Given the description of an element on the screen output the (x, y) to click on. 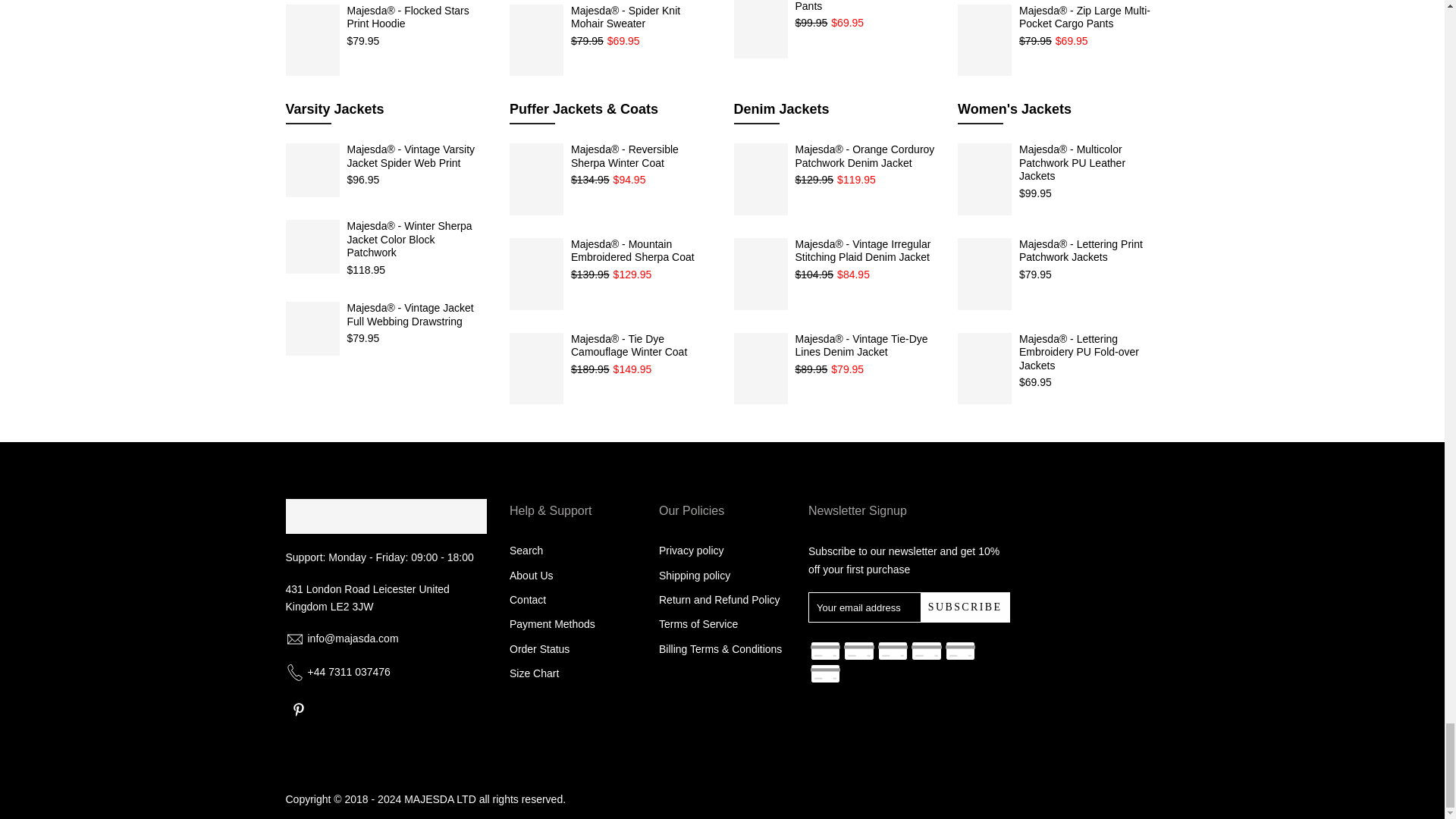
Follow on Pinterest (298, 709)
